Given the description of an element on the screen output the (x, y) to click on. 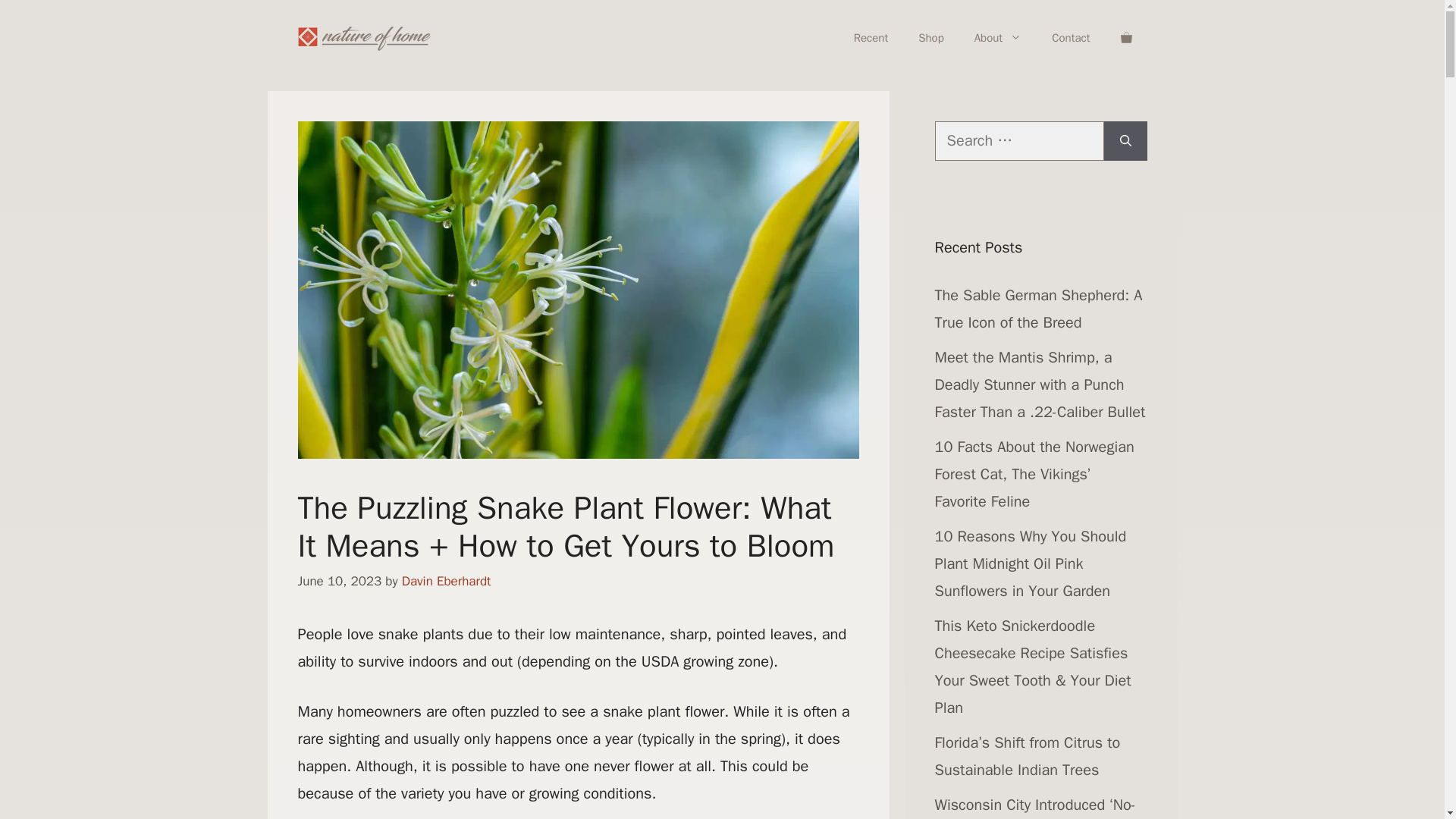
Recent (871, 37)
Davin Eberhardt (446, 580)
Shop (930, 37)
View all posts by Davin Eberhardt (446, 580)
About (997, 37)
View your shopping cart (1126, 37)
Contact (1070, 37)
